Given the description of an element on the screen output the (x, y) to click on. 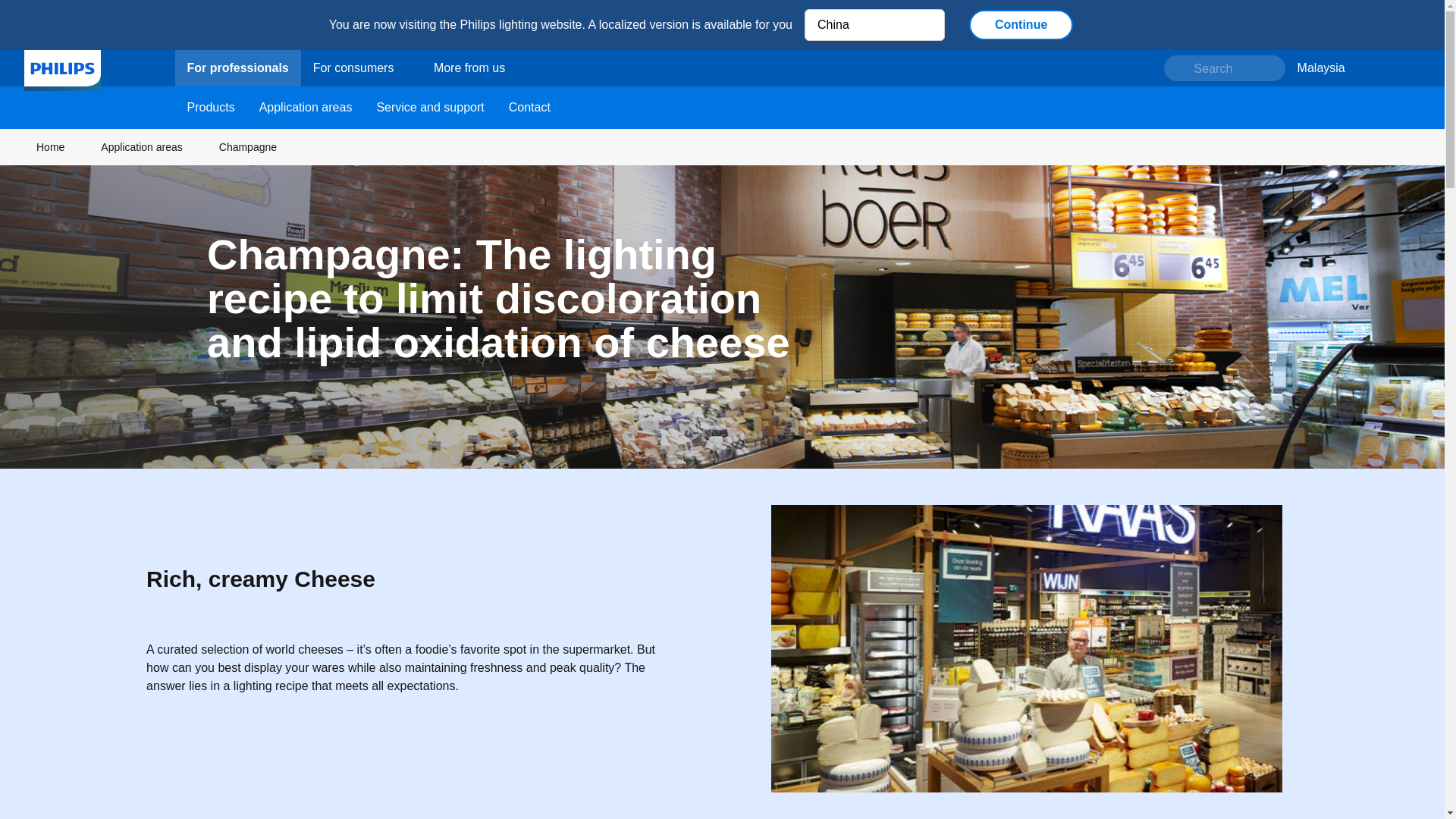
More from us (469, 67)
Search (1224, 67)
Search (1224, 67)
For consumers (361, 67)
Continue (1021, 24)
For professionals (237, 67)
